Given the description of an element on the screen output the (x, y) to click on. 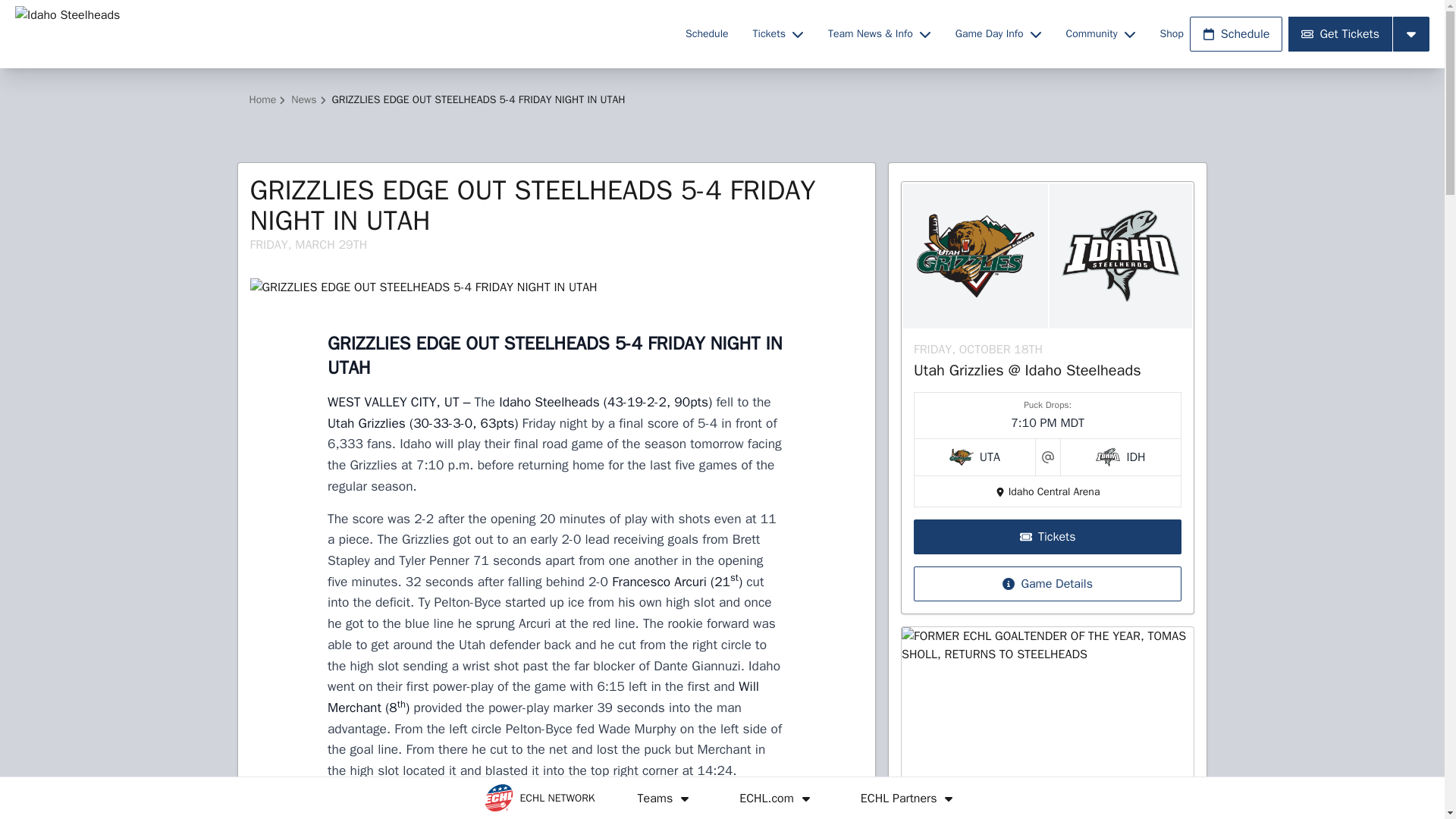
Game Day Info (998, 33)
Tickets (777, 33)
Shop (1171, 33)
Schedule (1236, 33)
Idaho Steelheads (340, 33)
Community (1100, 33)
Get Tickets (1339, 33)
Schedule (706, 33)
